Given the description of an element on the screen output the (x, y) to click on. 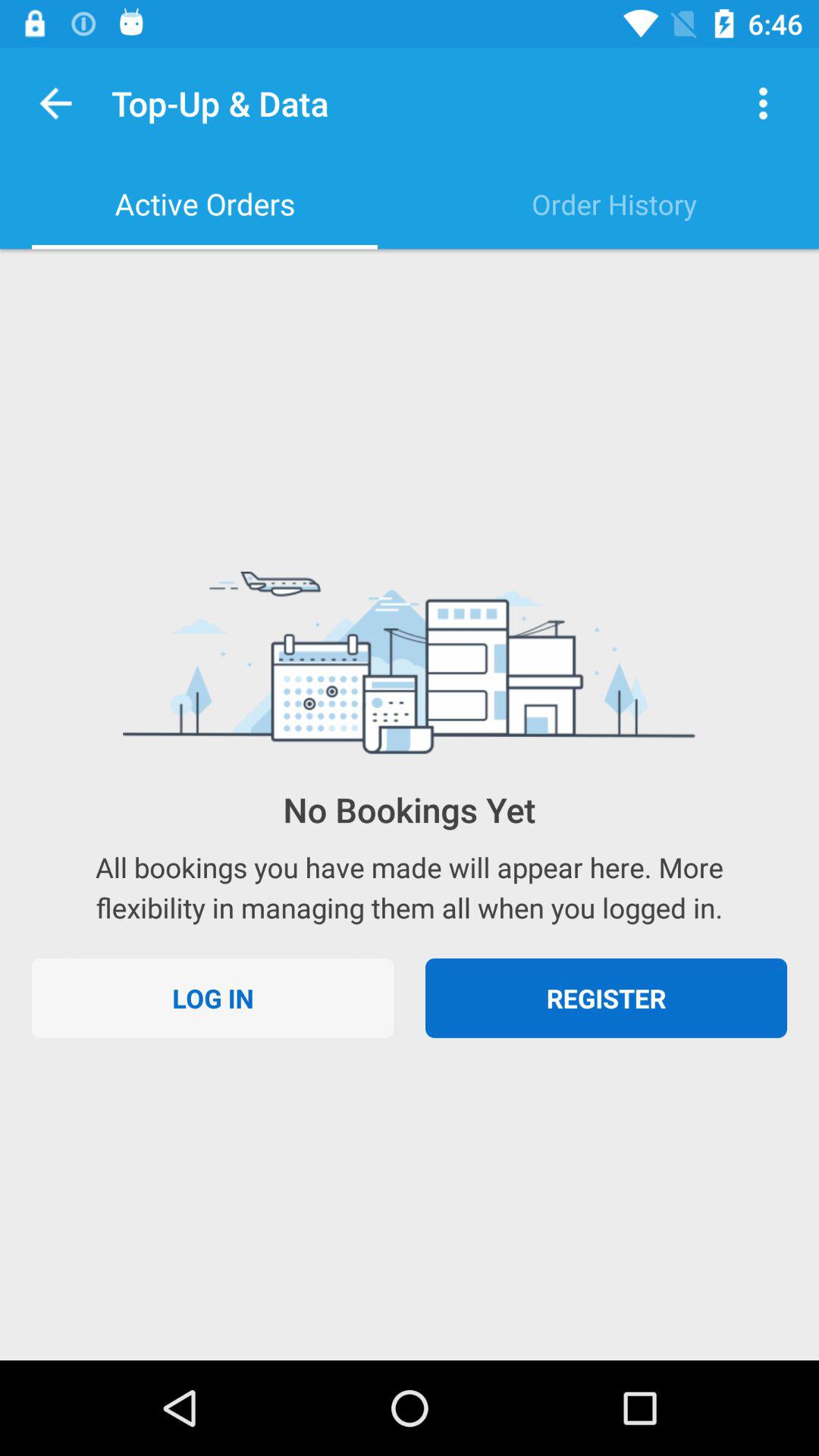
swipe to register (606, 997)
